Given the description of an element on the screen output the (x, y) to click on. 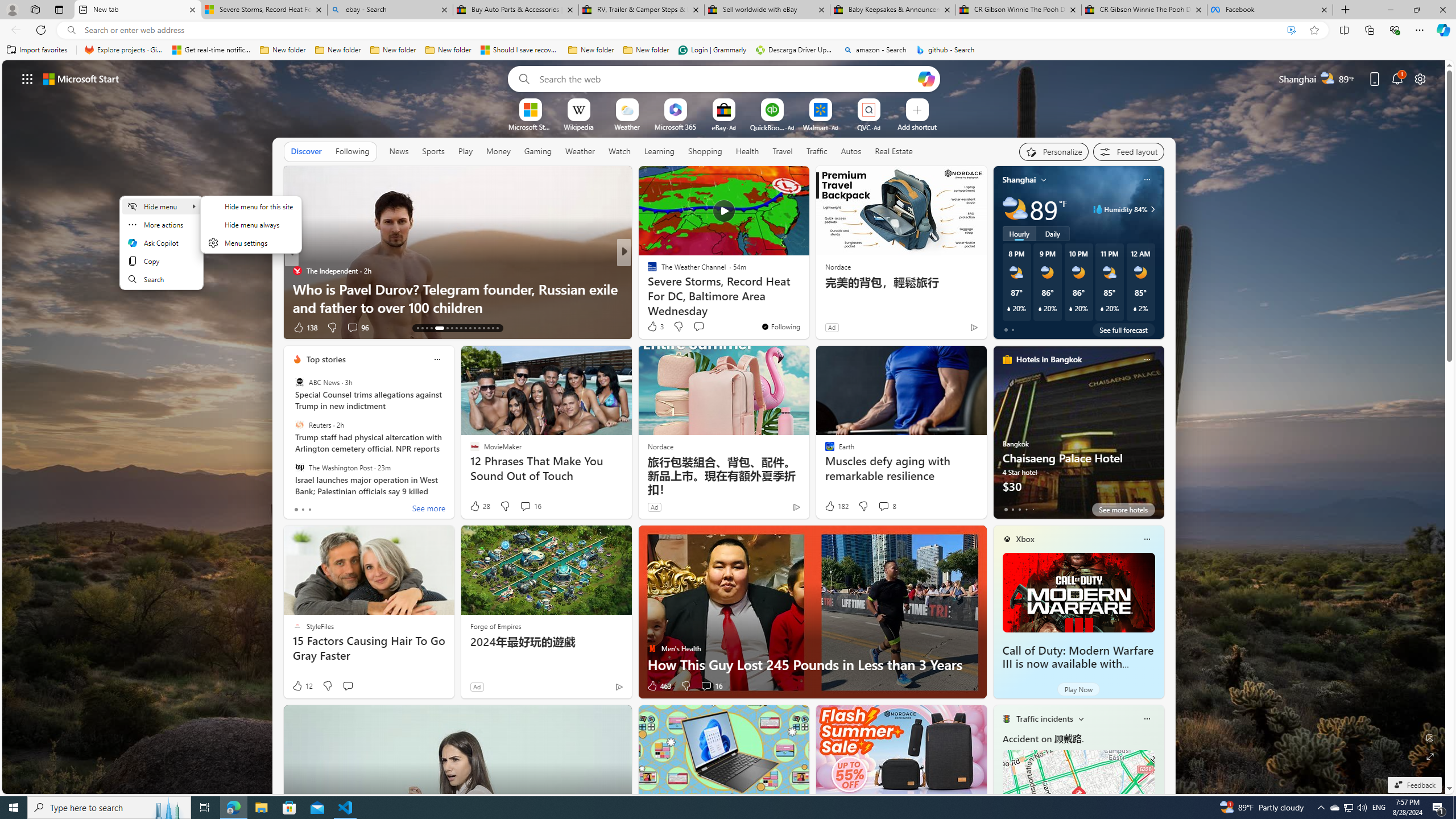
Traffic (816, 151)
Hide menu (250, 224)
Shopping (705, 151)
20 Activities People Over 60 Should Skip (807, 307)
Real Estate (893, 151)
Microsoft 365 (675, 126)
Xbox (1025, 538)
NBC News (647, 270)
View comments 167 Comment (709, 327)
